Given the description of an element on the screen output the (x, y) to click on. 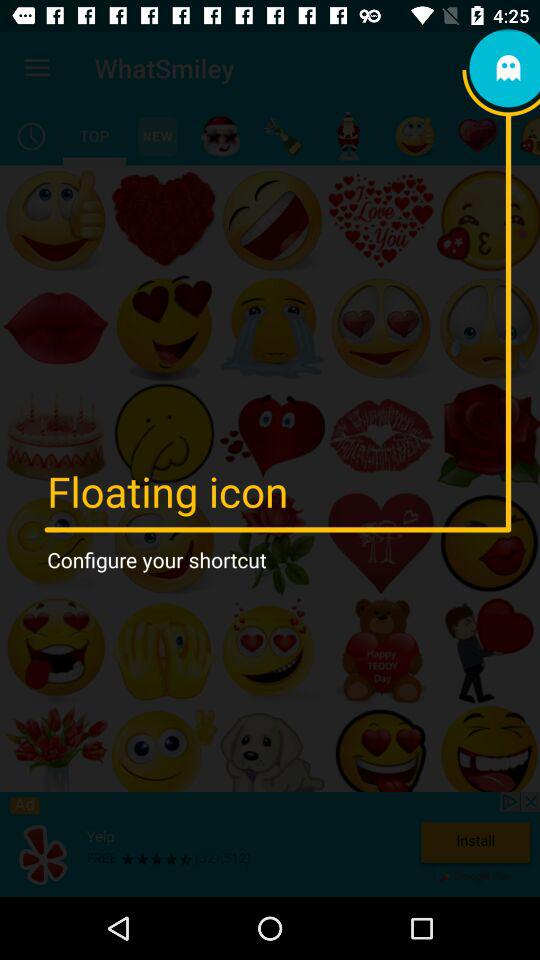
select heart emoji (477, 136)
